Given the description of an element on the screen output the (x, y) to click on. 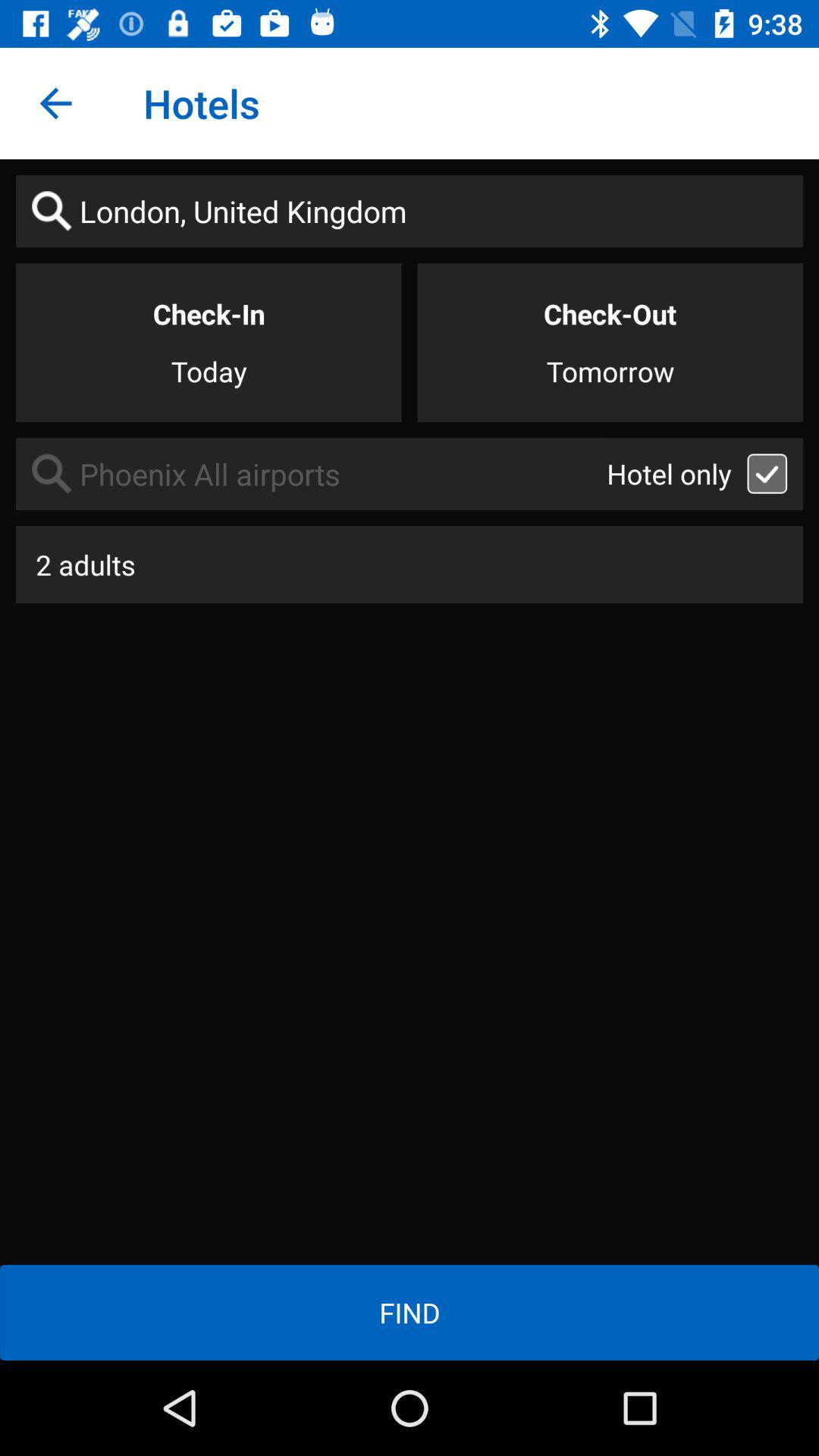
unclick (767, 473)
